Given the description of an element on the screen output the (x, y) to click on. 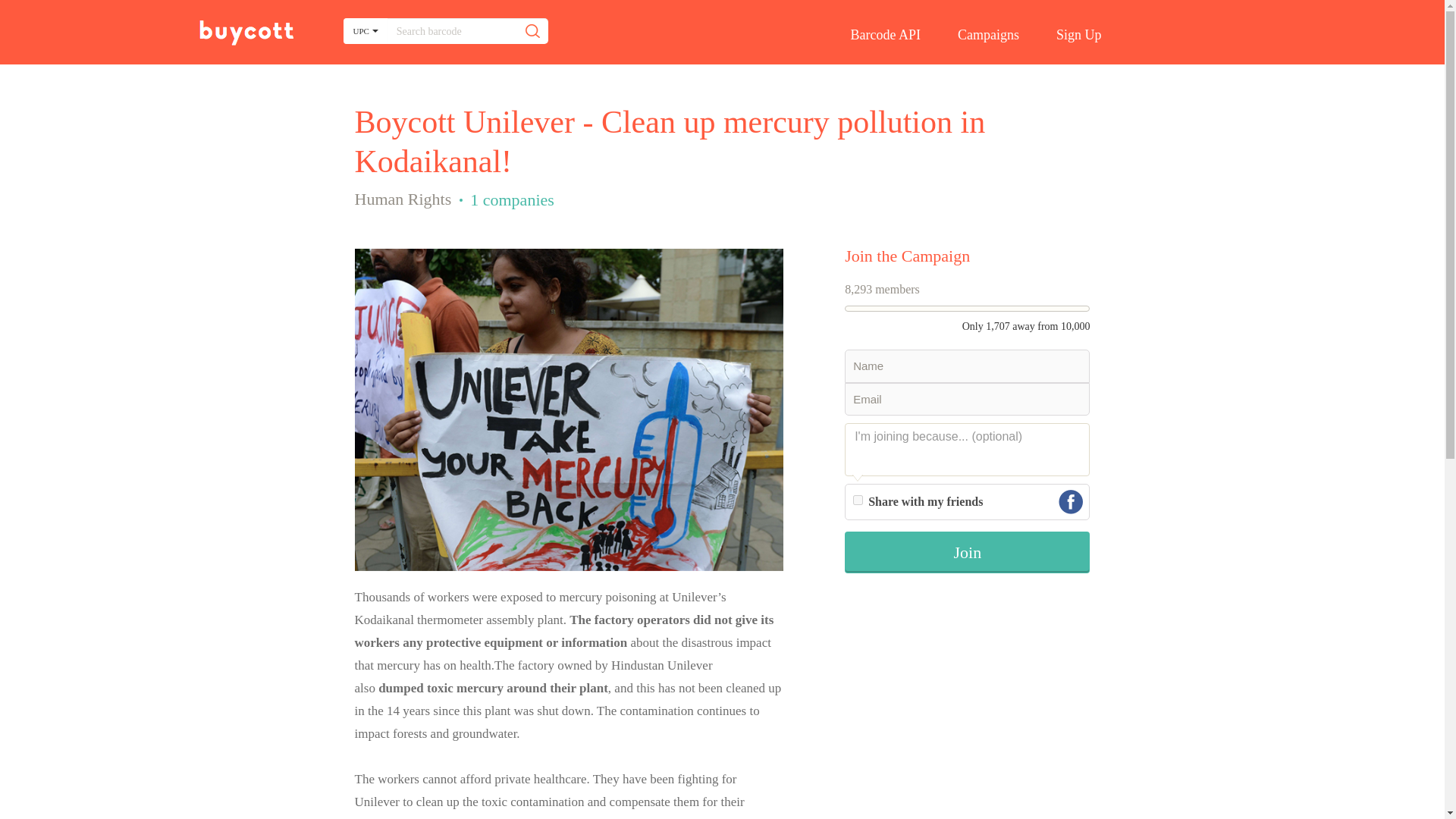
1 companies (512, 199)
Buycott UPC Lookup (245, 32)
Campaigns (983, 34)
Barcode API (881, 34)
Sign Up (1067, 34)
option1 (858, 500)
UPC (364, 31)
Join (966, 552)
Sign Up (1067, 34)
